Given the description of an element on the screen output the (x, y) to click on. 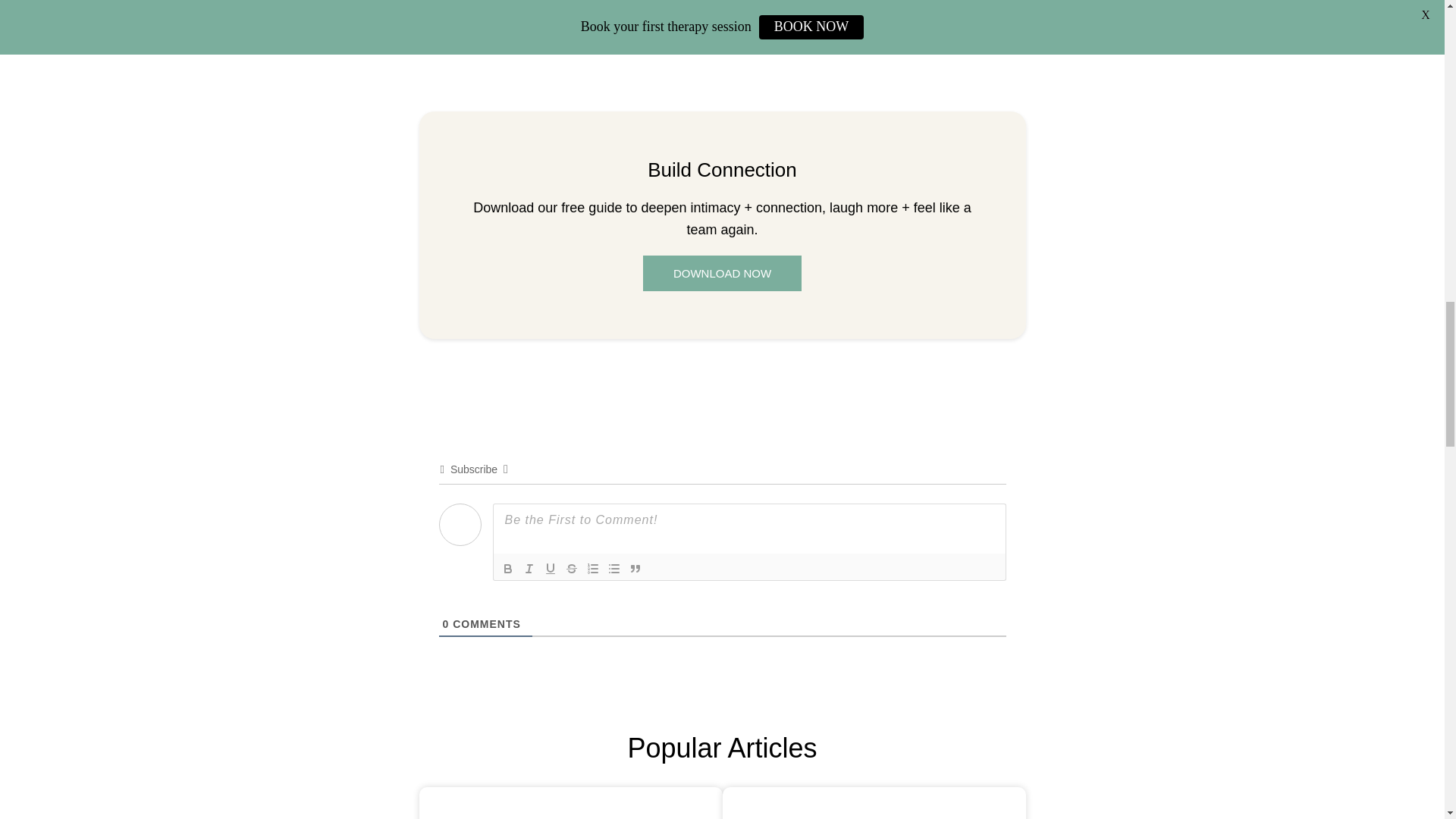
bullet (614, 568)
Italic (529, 568)
Unordered List (614, 568)
Bold (507, 568)
Ordered List (593, 568)
Strike (571, 568)
Underline (550, 568)
DOWNLOAD NOW (722, 273)
ordered (593, 568)
Blockquote (635, 568)
